Given the description of an element on the screen output the (x, y) to click on. 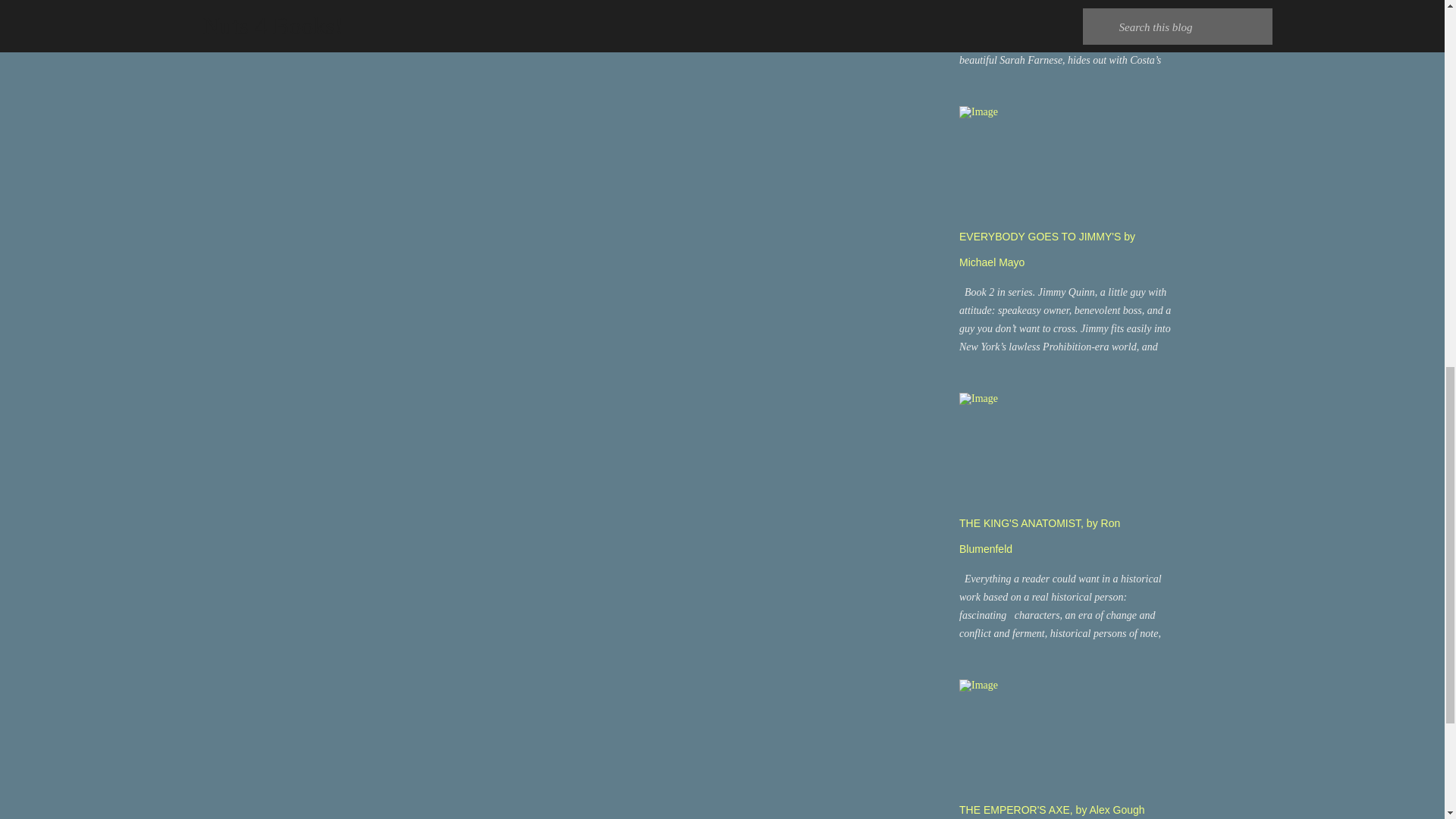
THE KING'S ANATOMIST, by Ron Blumenfeld (1039, 535)
THE EMPEROR'S AXE, by Alex Gough (1051, 809)
EVERYBODY GOES TO JIMMY'S by Michael Mayo (1047, 249)
